Given the description of an element on the screen output the (x, y) to click on. 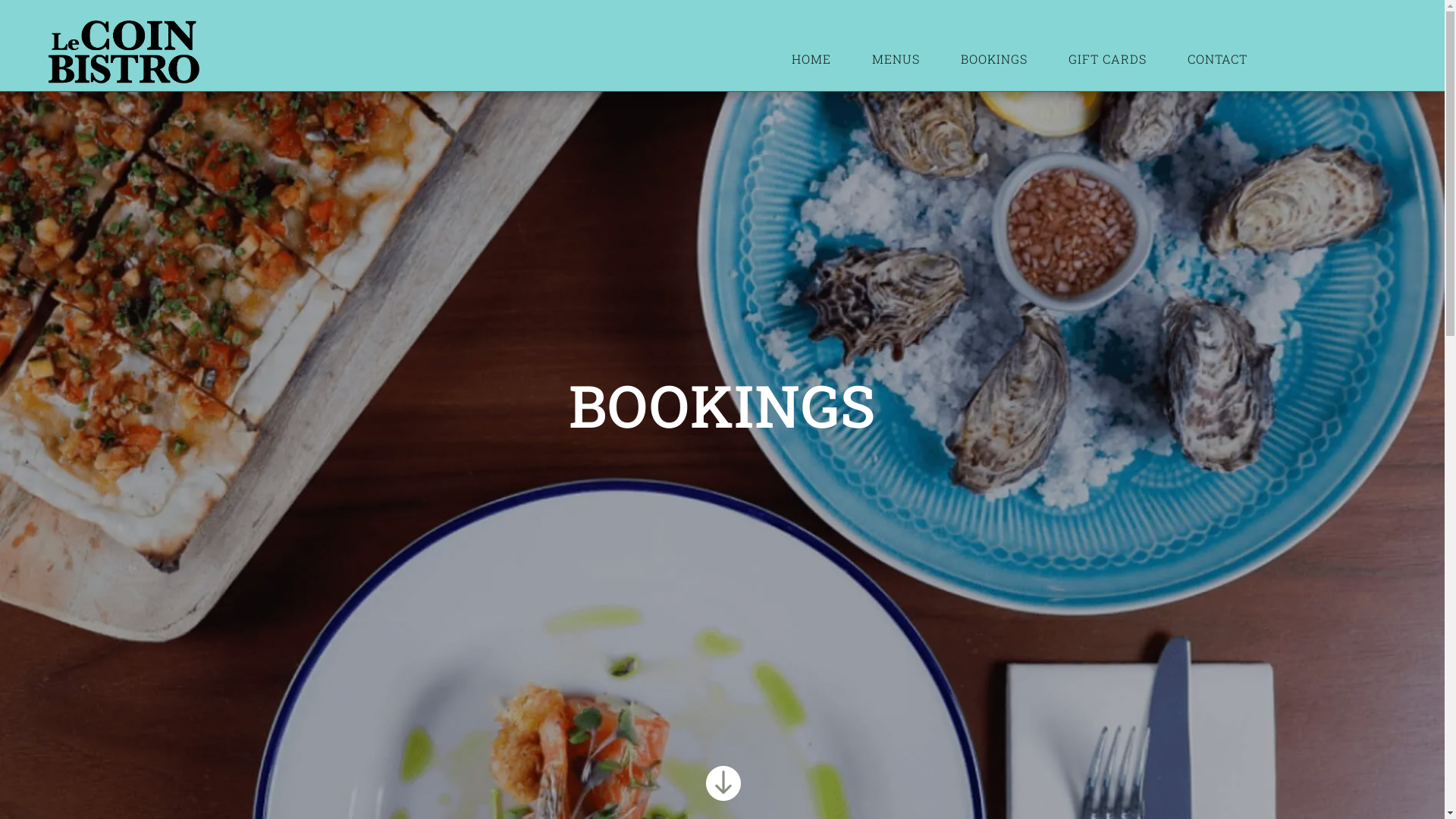
GIFT CARDS Element type: text (1107, 58)
HOME Element type: text (811, 58)
CONTACT Element type: text (1217, 58)
BOOKINGS Element type: text (993, 58)
MENUS Element type: text (895, 58)
Le Coin Bistro logo Element type: hover (123, 51)
